Given the description of an element on the screen output the (x, y) to click on. 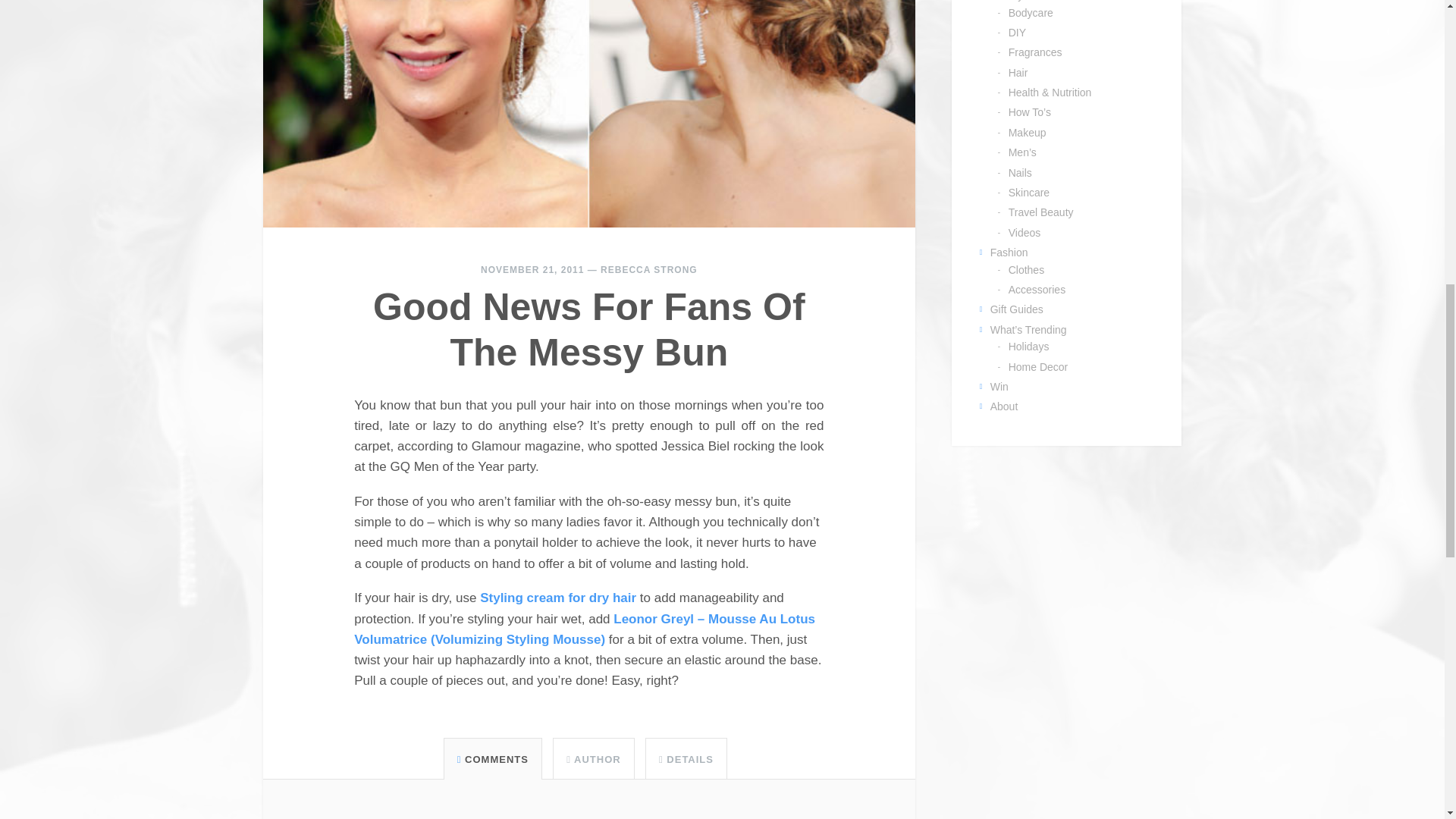
COMMENTS (492, 758)
Good News For Fans Of The Messy Bun (588, 329)
REBECCA STRONG (648, 269)
AUTHOR (593, 758)
Styling cream for dry hair (558, 597)
DETAILS (686, 758)
Posts by Rebecca Strong (648, 269)
